Given the description of an element on the screen output the (x, y) to click on. 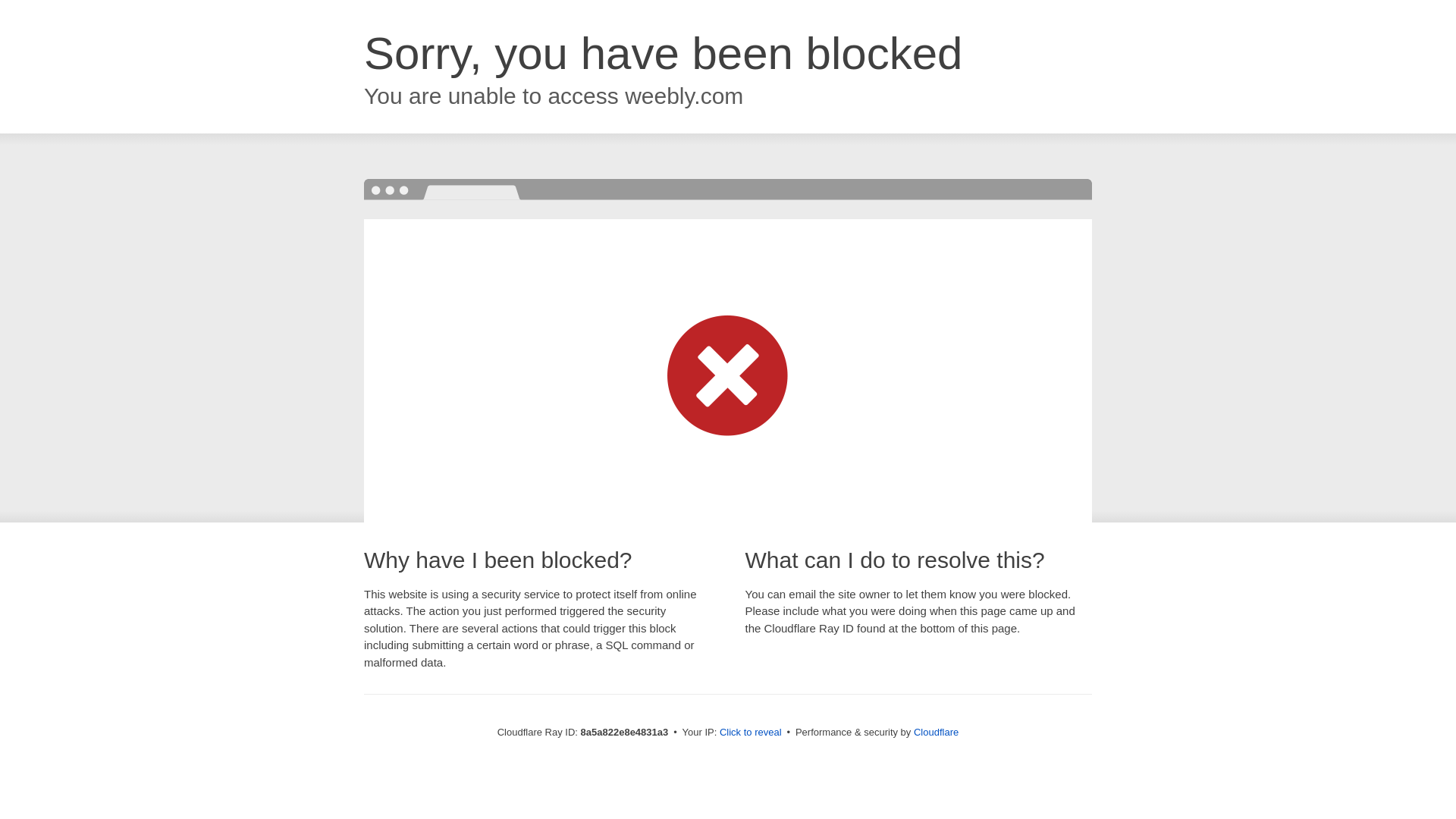
Cloudflare (936, 731)
Click to reveal (750, 732)
